Given the description of an element on the screen output the (x, y) to click on. 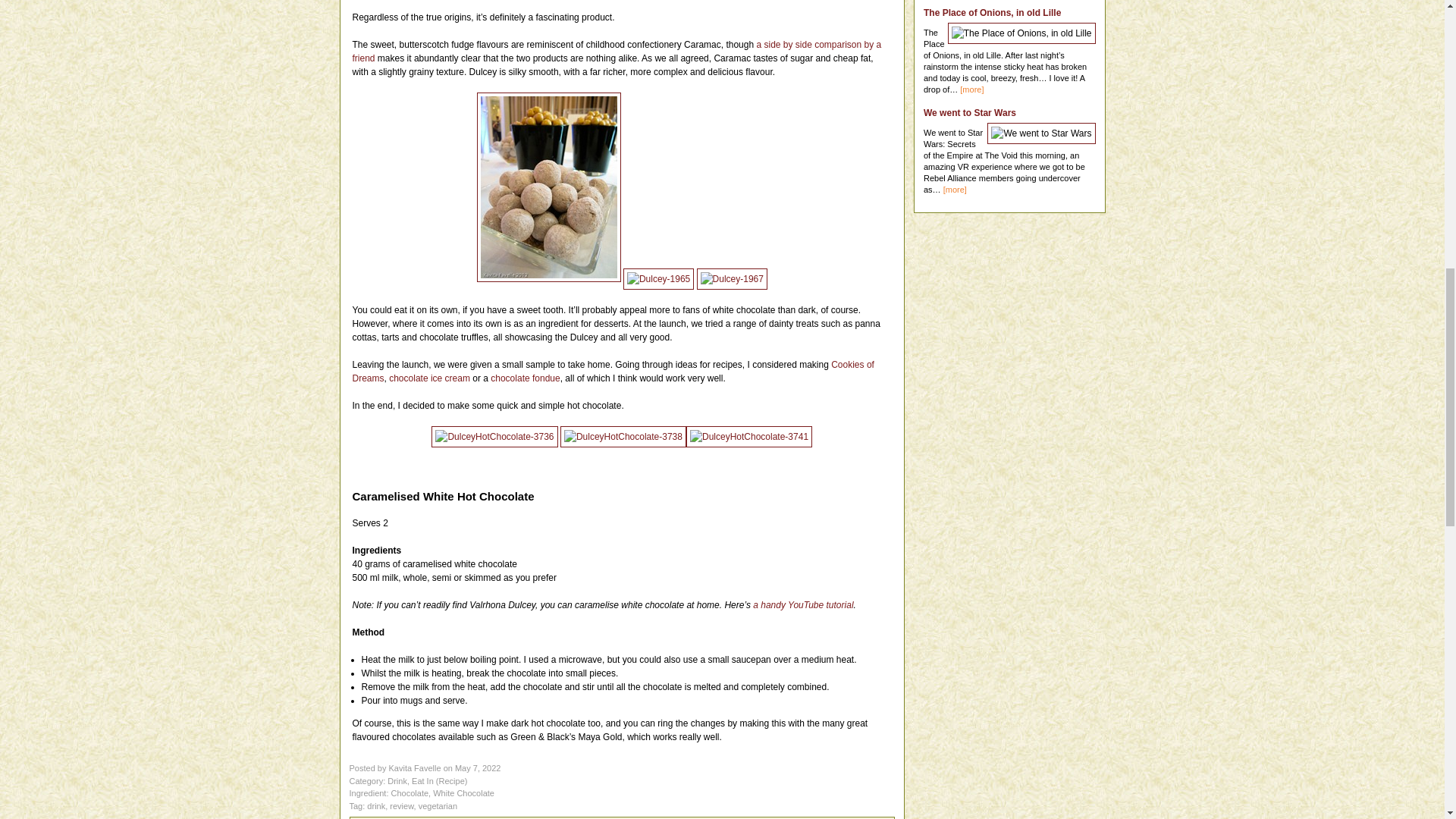
chocolate fondue (524, 378)
chocolate ice cream (429, 378)
a side by side comparison by a friend (616, 51)
Cookies of Dreams (612, 371)
May 7, 2022 (477, 768)
